Given the description of an element on the screen output the (x, y) to click on. 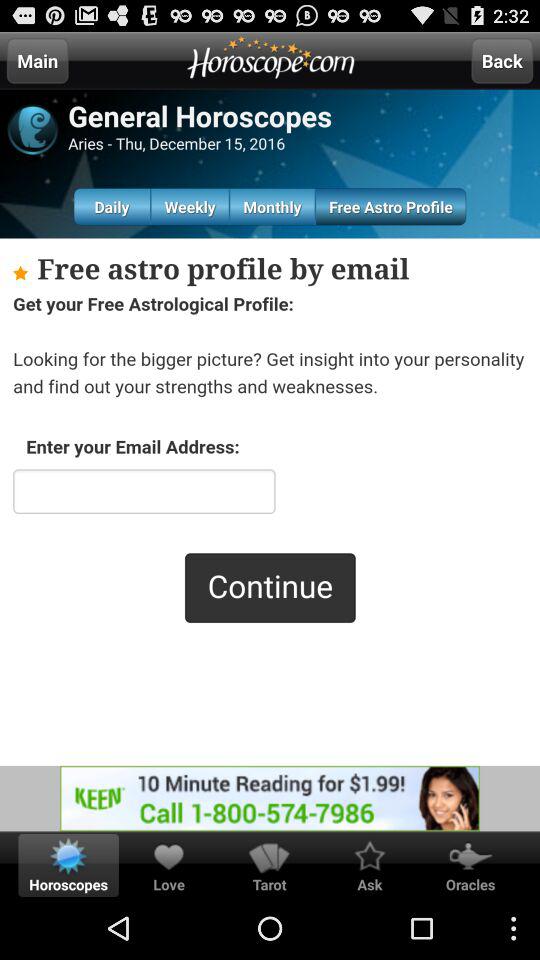
select the option monthly (272, 206)
click on favorites icon which is above ask (369, 856)
click on the icon which is above the text oracles (470, 856)
click on second icon from the bottom left of the screen (168, 856)
